Given the description of an element on the screen output the (x, y) to click on. 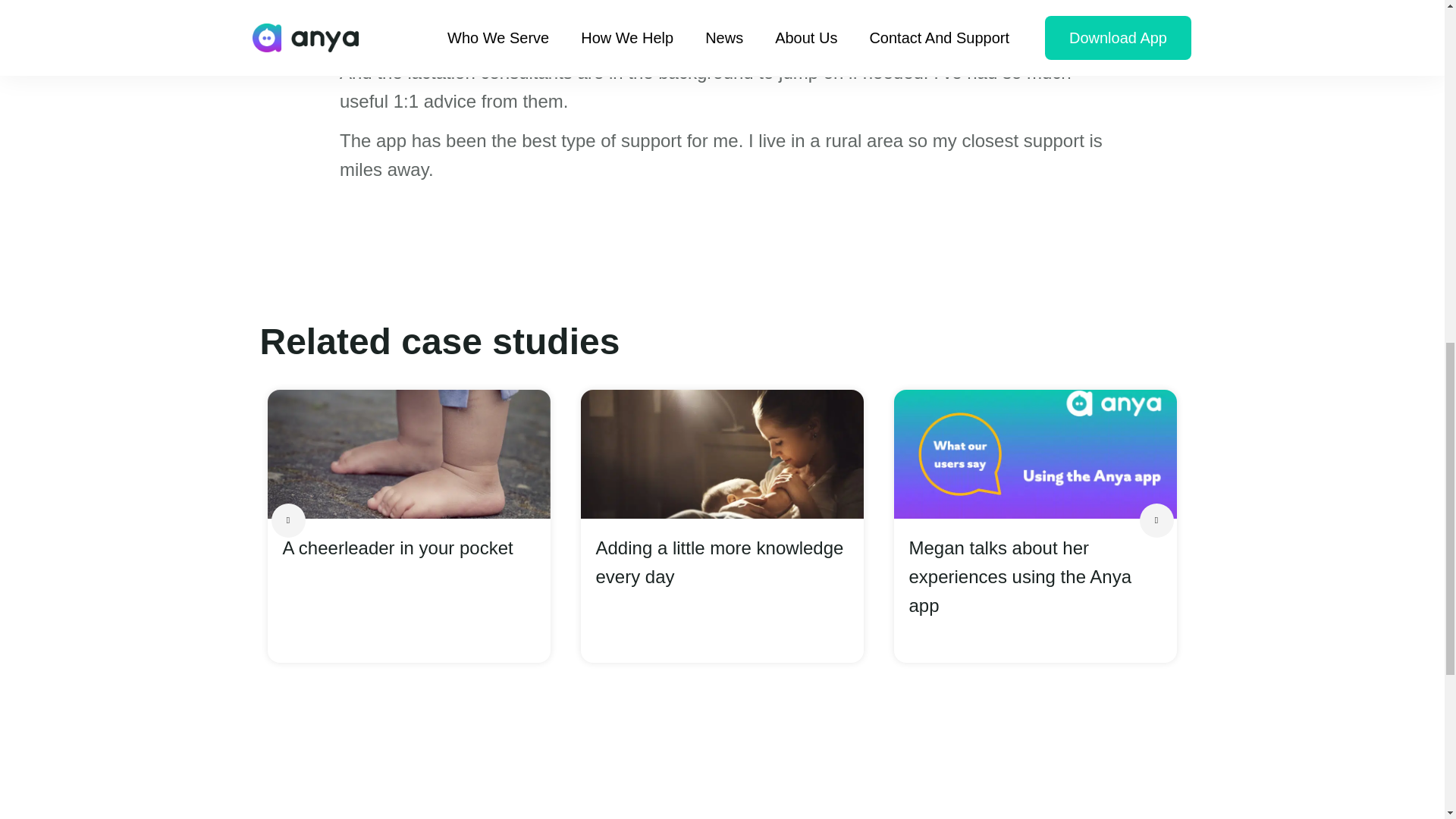
previous item (287, 520)
Adding a little more knowledge every day (721, 562)
A cheerleader in your pocket (408, 547)
next item (1155, 520)
Megan talks about her experiences using the Anya app (1034, 576)
